Given the description of an element on the screen output the (x, y) to click on. 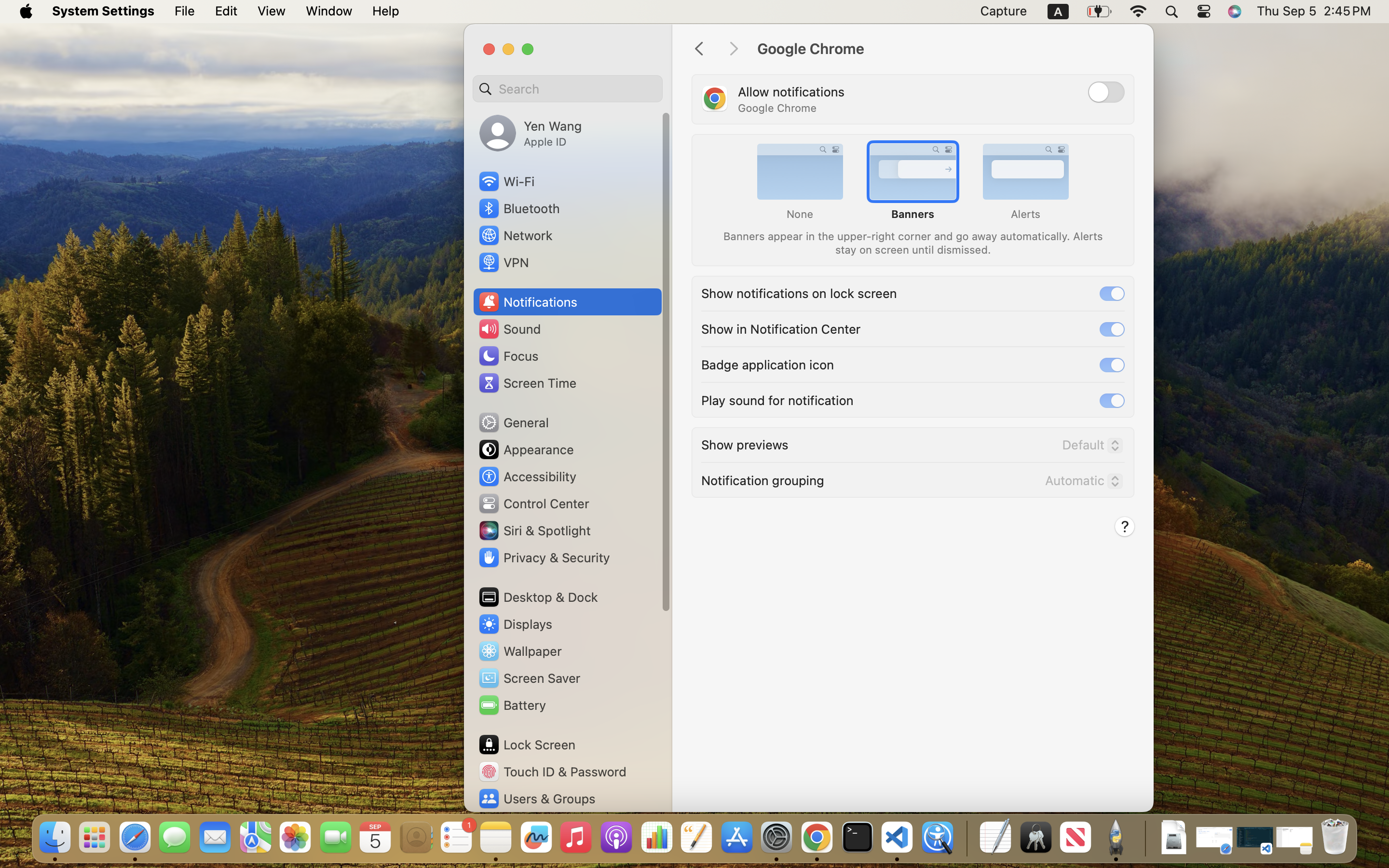
Screen Time Element type: AXStaticText (526, 382)
Desktop & Dock Element type: AXStaticText (537, 596)
Accessibility Element type: AXStaticText (526, 476)
Show notifications on lock screen Element type: AXStaticText (799, 291)
Play sound for notification Element type: AXStaticText (777, 398)
